Given the description of an element on the screen output the (x, y) to click on. 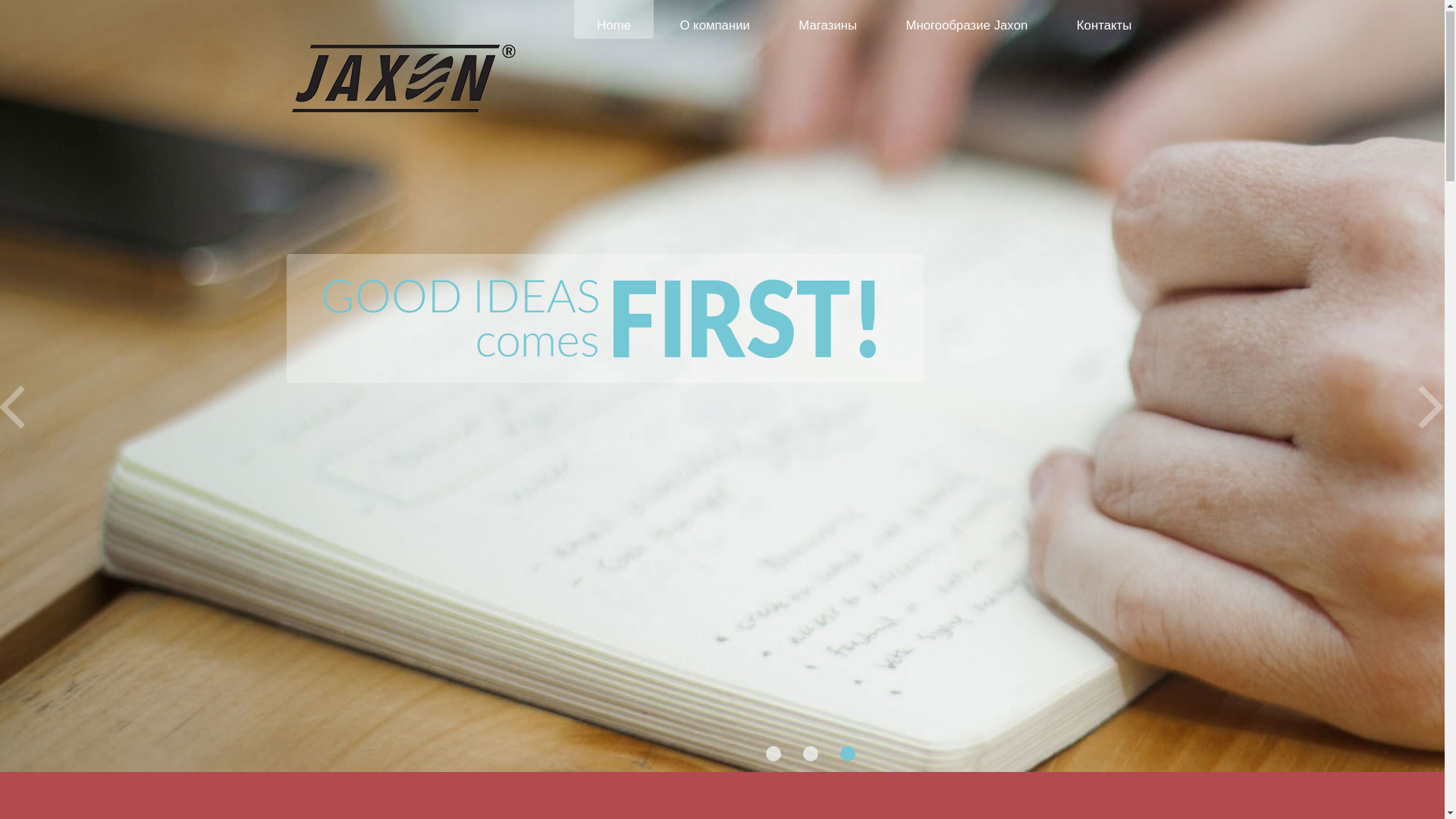
Previous Element type: text (14, 409)
Next Element type: text (1429, 409)
